Given the description of an element on the screen output the (x, y) to click on. 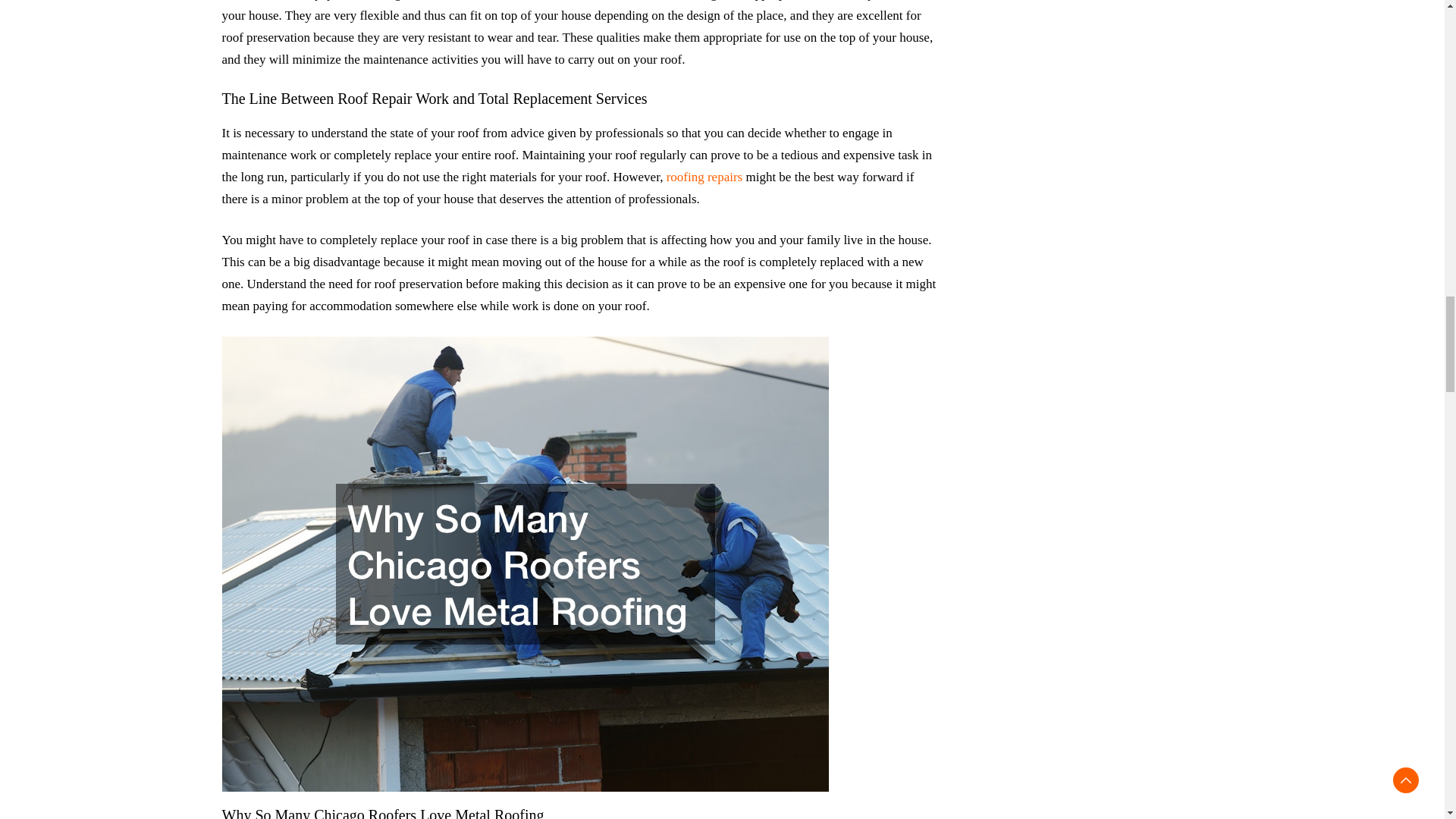
roofing repairs (704, 176)
